Given the description of an element on the screen output the (x, y) to click on. 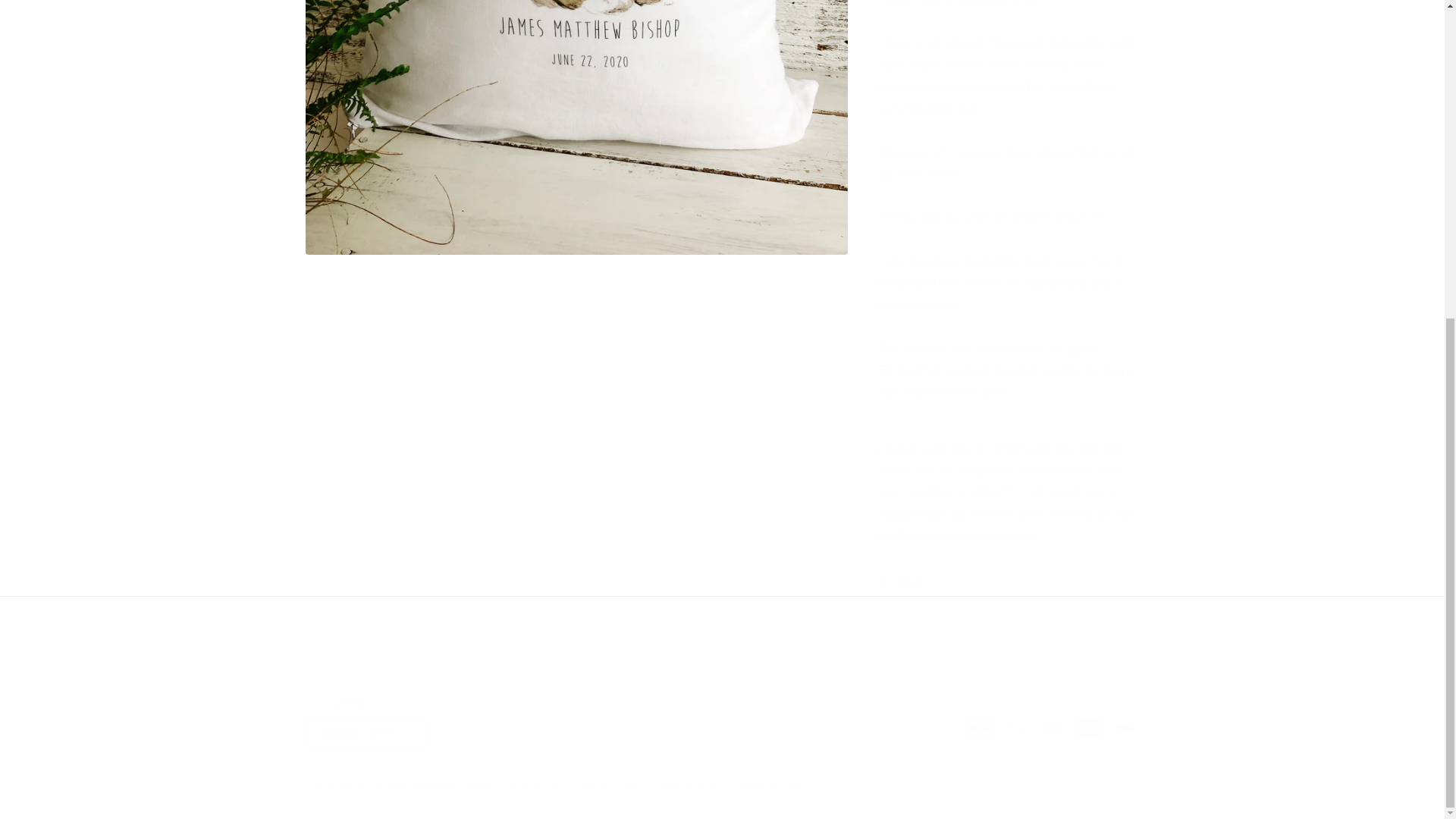
Privacy policy (612, 786)
Studio On Tenth (374, 786)
Powered by Shopify (453, 786)
Shipping policy (773, 786)
Terms of service (690, 786)
Refund policy (540, 786)
